Given the description of an element on the screen output the (x, y) to click on. 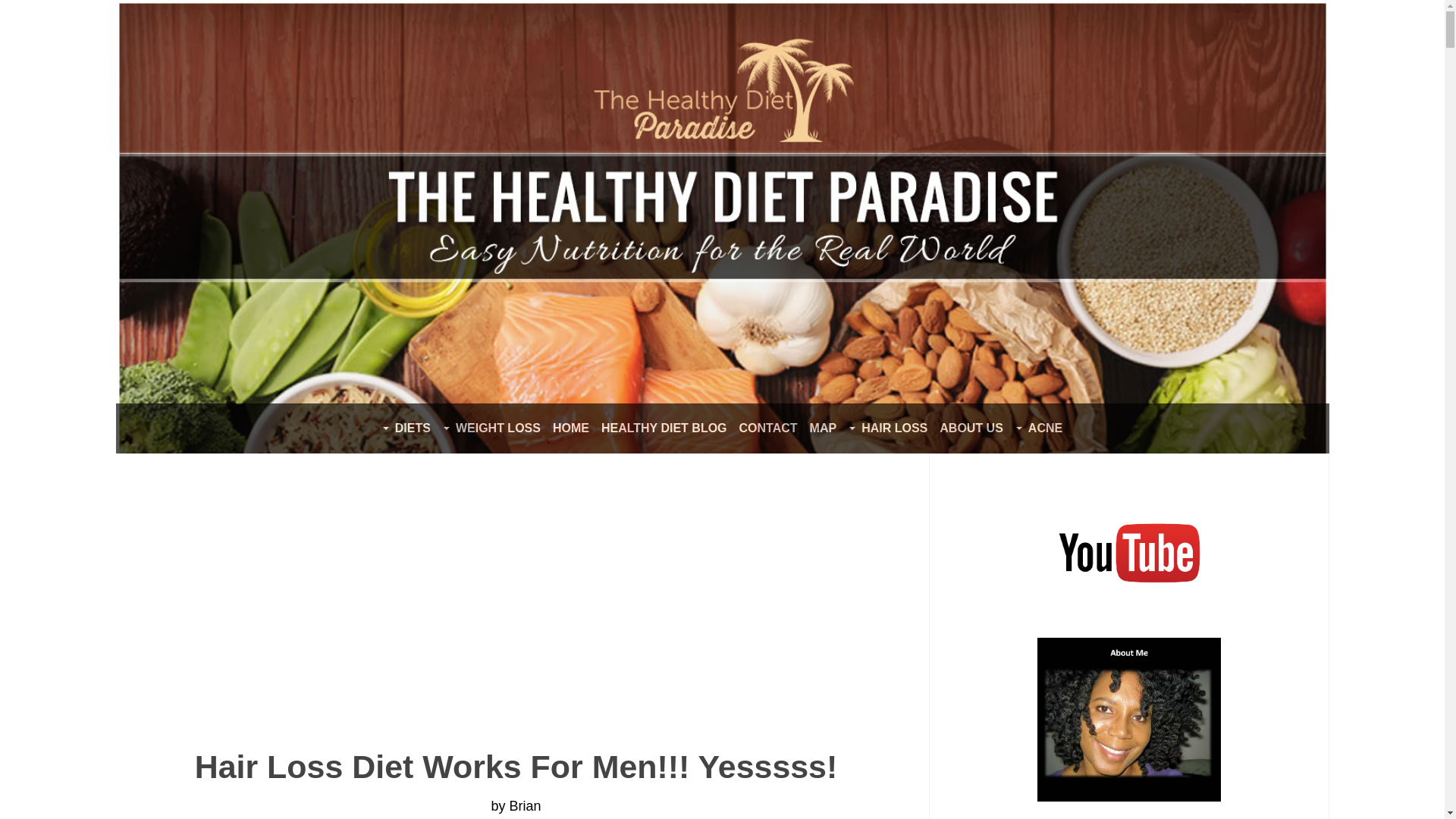
Advertisement (268, 588)
CONTACT (768, 428)
Go to All About The Healthy Diet Paradise (1128, 796)
HOME (571, 428)
HEALTHY DIET BLOG (664, 428)
Picture of Sheree (1128, 719)
ABOUT US (971, 428)
MAP (823, 428)
